Given the description of an element on the screen output the (x, y) to click on. 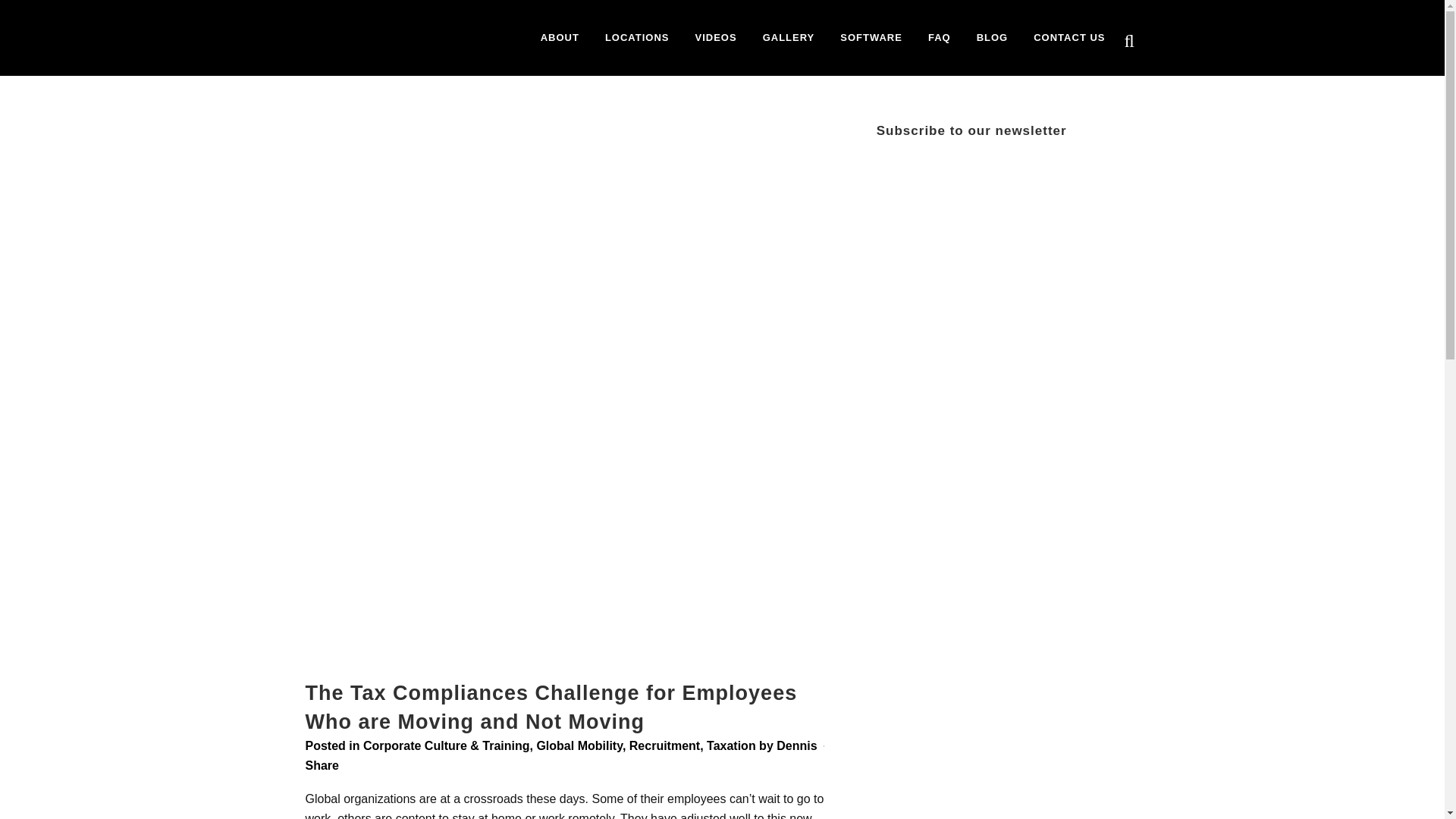
SOFTWARE (871, 38)
GALLERY (788, 38)
Recruitment (664, 745)
Share (320, 765)
Dennis (796, 745)
LOCATIONS (637, 38)
Taxation (730, 745)
VIDEOS (715, 38)
CONTACT US (1069, 38)
Global Mobility (578, 745)
